Given the description of an element on the screen output the (x, y) to click on. 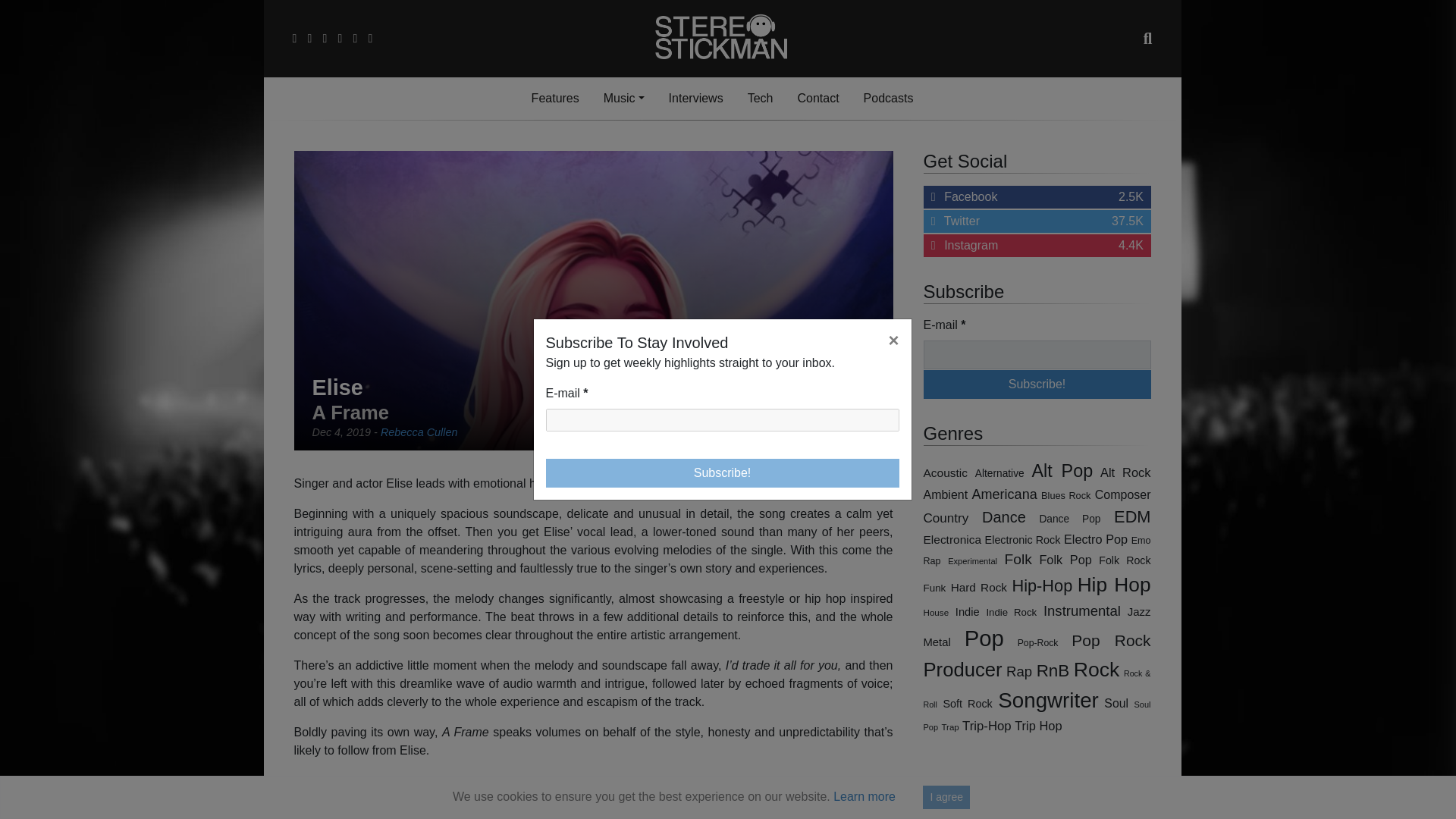
Subscribe! (1037, 384)
Tech (760, 98)
Subscribe! (1037, 384)
A-Frame by Elise (593, 810)
E-mail (1037, 354)
Interviews (695, 98)
Podcasts (888, 98)
Subscribe! (722, 472)
Website (551, 780)
Tech (760, 98)
Acoustic (945, 472)
Podcasts (888, 98)
Alternative (1000, 473)
Interviews (1037, 220)
